Given the description of an element on the screen output the (x, y) to click on. 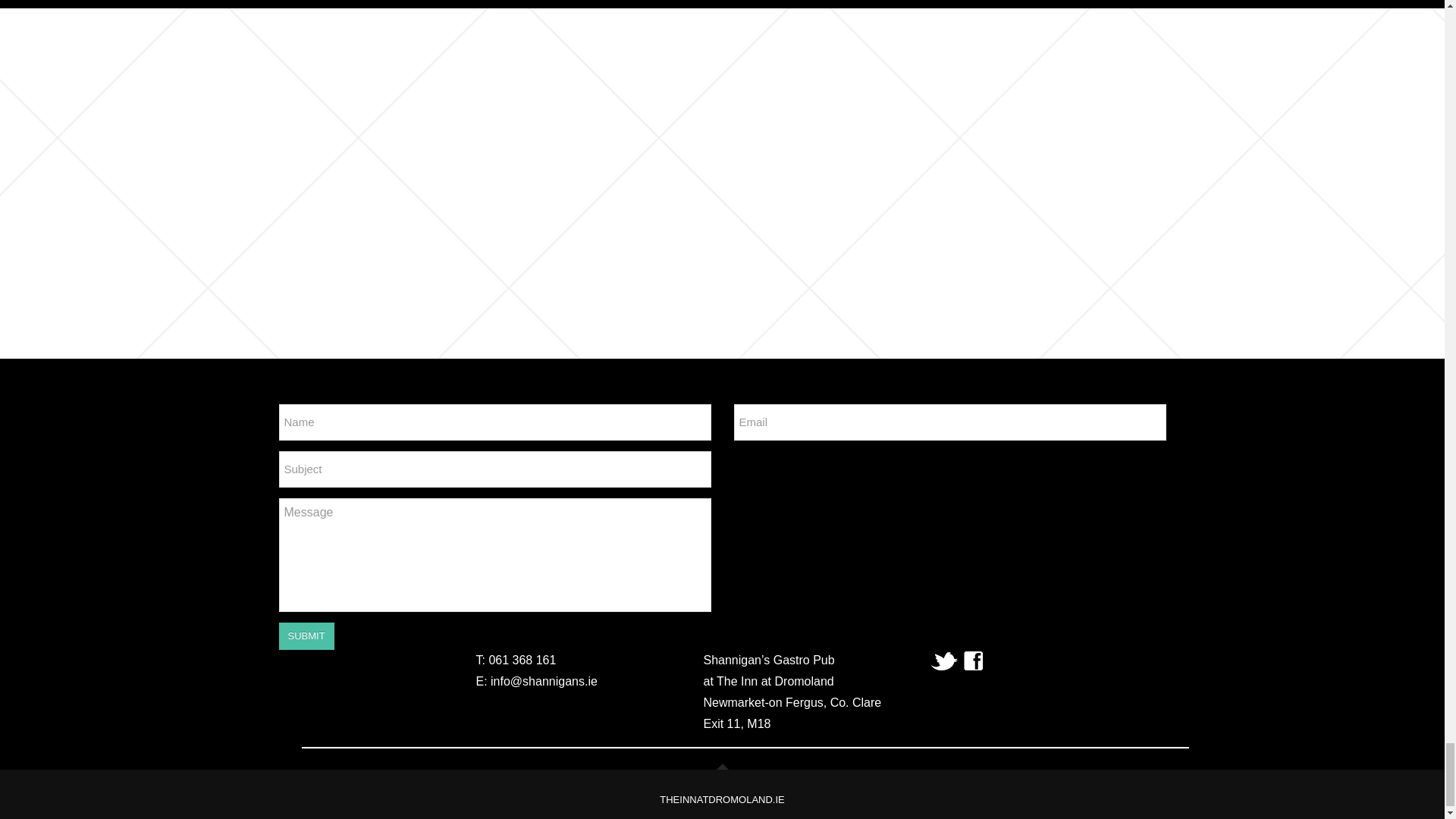
THEINNATDROMOLAND.IE (721, 799)
follow us on Twitter (944, 659)
like us on Facebook (972, 659)
